Given the description of an element on the screen output the (x, y) to click on. 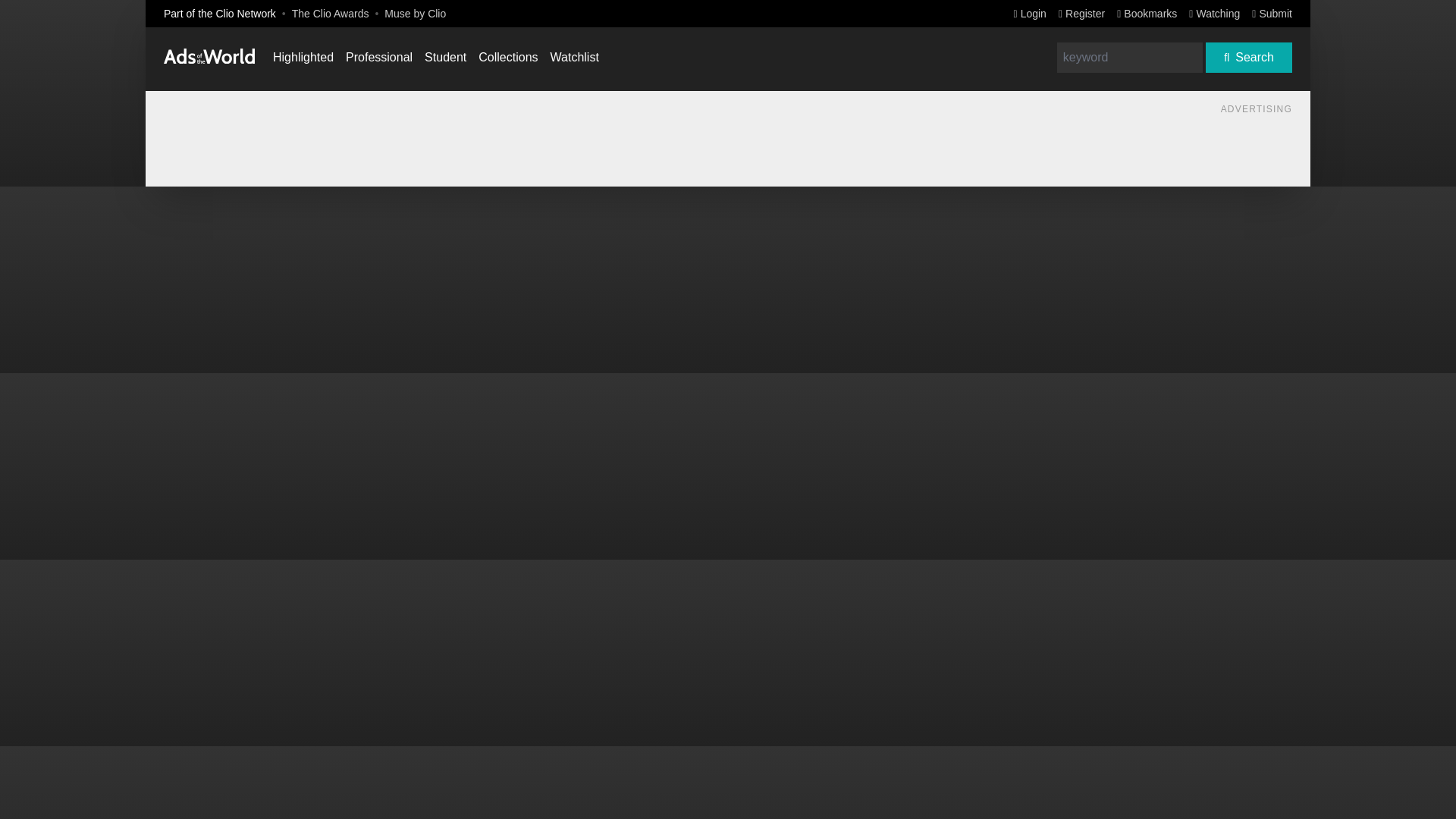
Watching (1214, 13)
Watchlist (574, 56)
Professional (379, 56)
Register (1081, 13)
Bookmarks (1146, 13)
Highlighted (303, 56)
Bookmarks (1146, 13)
Login (1029, 13)
Submit (1272, 13)
The Clio Awards (330, 13)
